Given the description of an element on the screen output the (x, y) to click on. 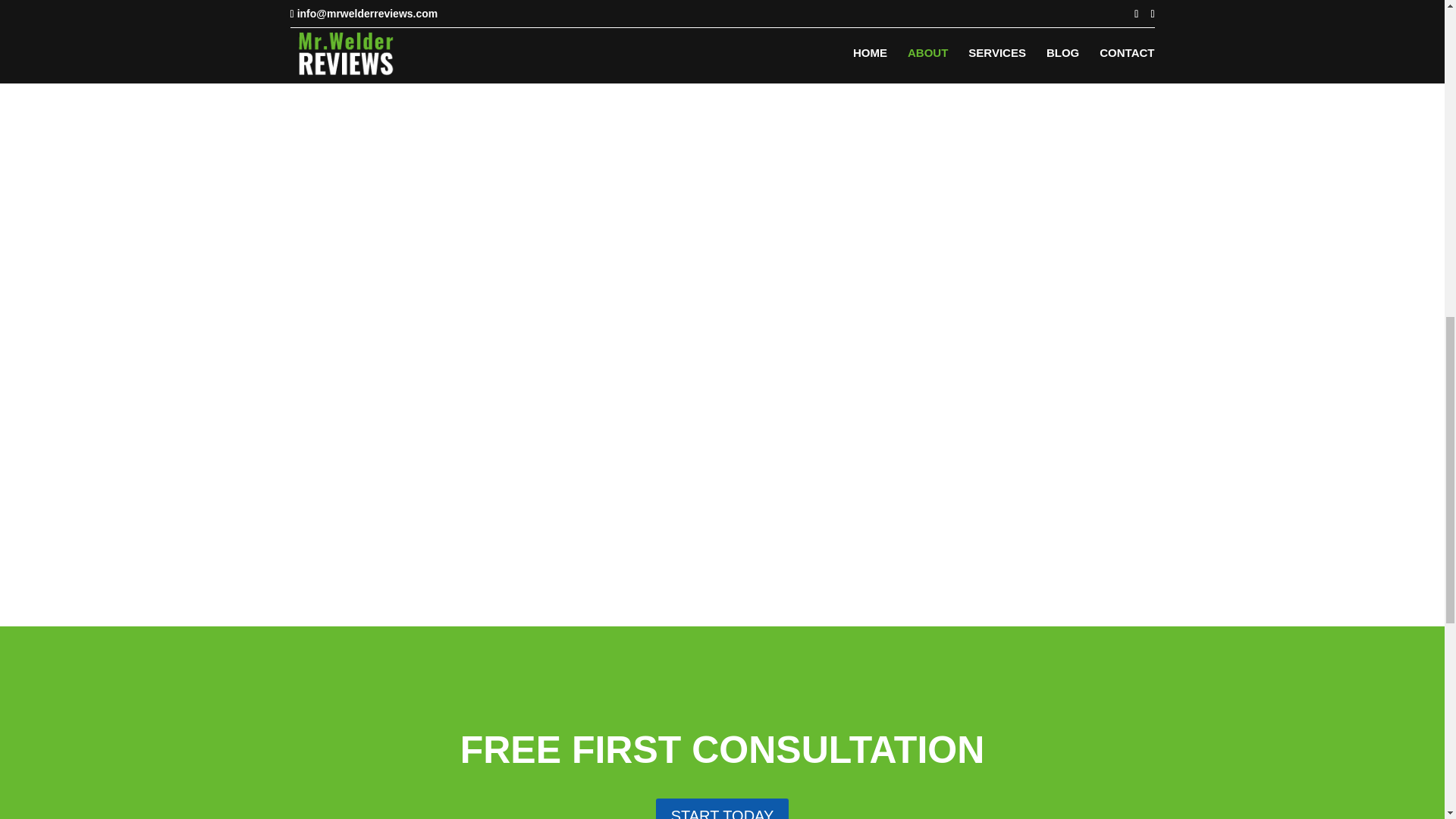
START TODAY (722, 808)
